Given the description of an element on the screen output the (x, y) to click on. 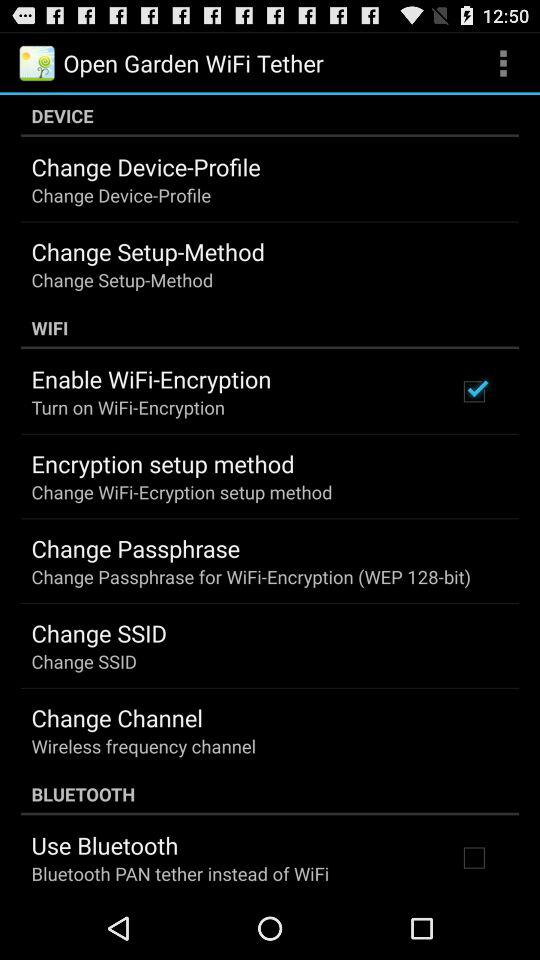
select item below the use bluetooth icon (180, 873)
